Given the description of an element on the screen output the (x, y) to click on. 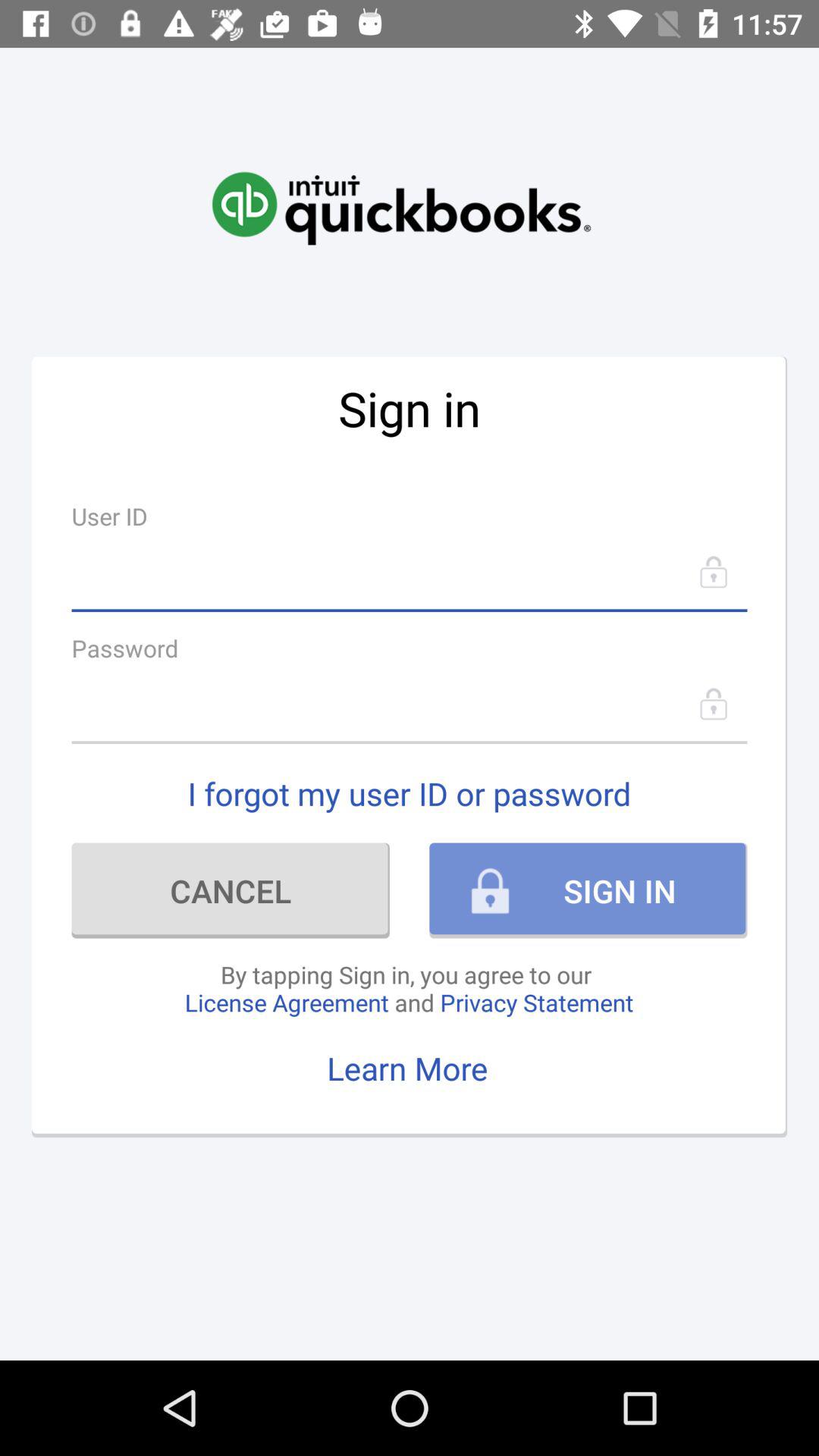
turn on the icon next to sign in icon (230, 890)
